Given the description of an element on the screen output the (x, y) to click on. 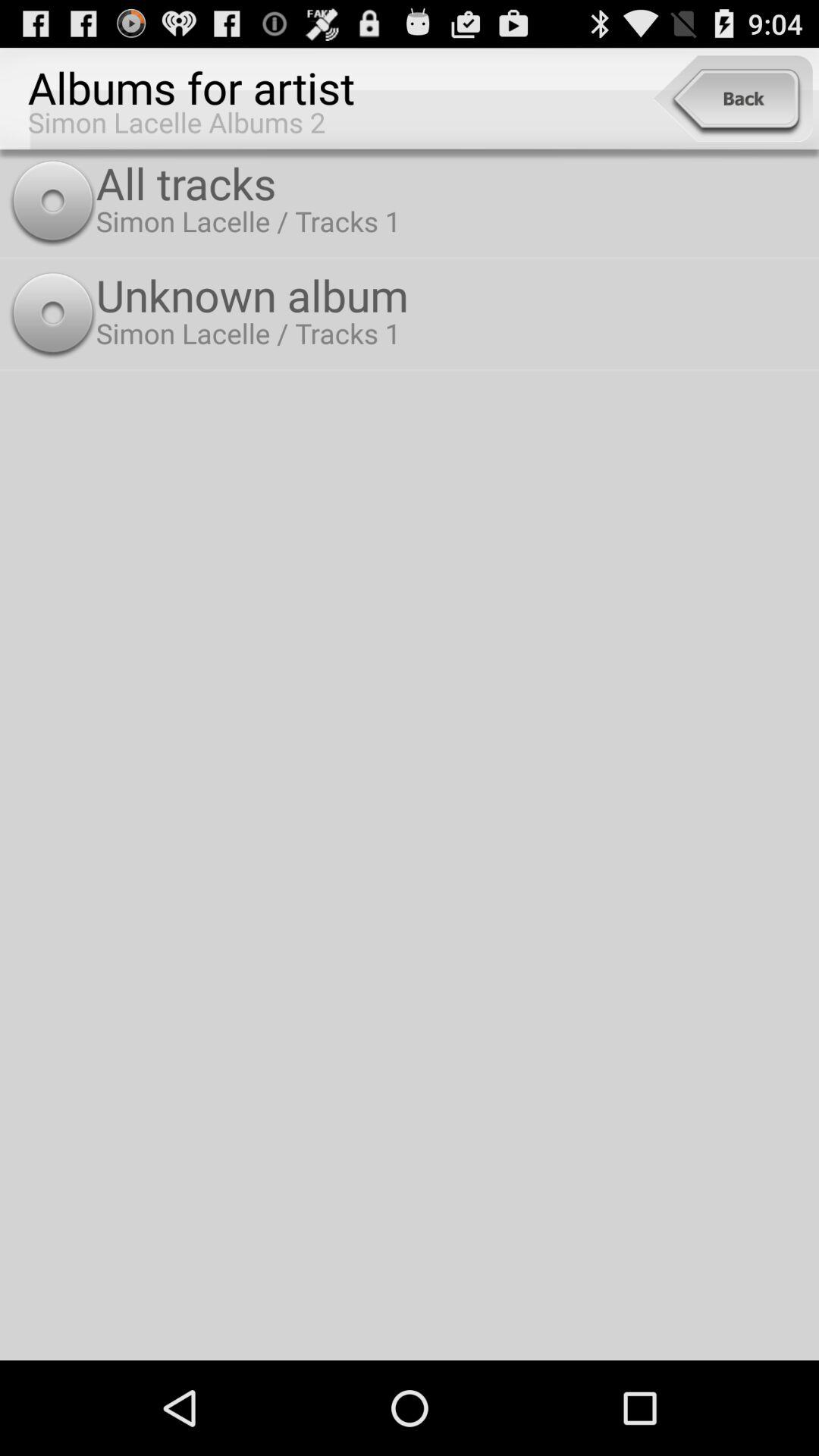
press the item above all tracks item (732, 98)
